Given the description of an element on the screen output the (x, y) to click on. 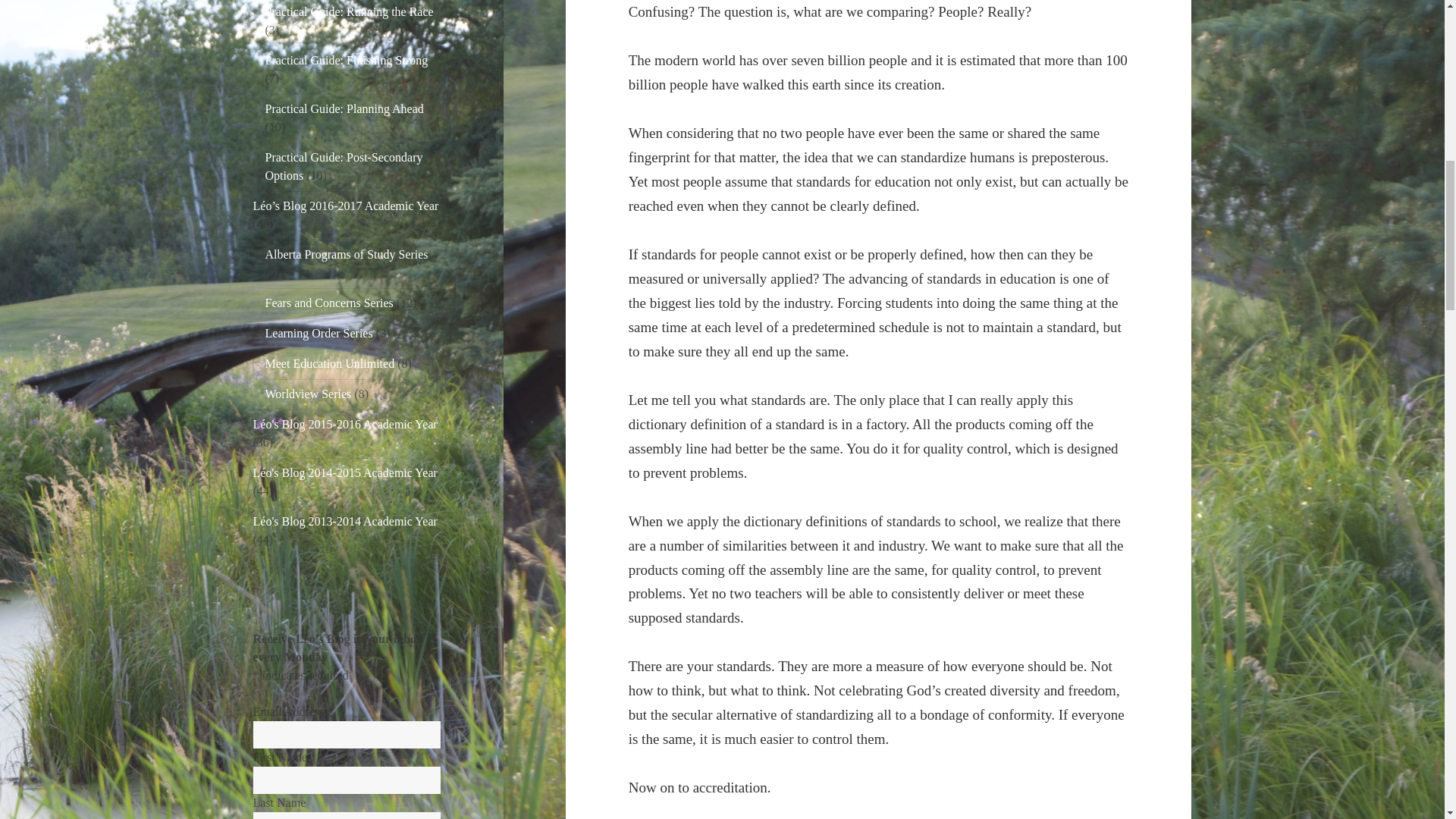
Practical Guide: Finishing Strong (346, 60)
Practical Guide: Post-Secondary Options (343, 165)
Alberta Programs of Study Series (346, 254)
Learning Order Series (318, 332)
Practical Guide: Running the Race (348, 11)
Fears and Concerns Series (328, 302)
Meet Education Unlimited (329, 363)
Worldview Series (308, 393)
Practical Guide: Planning Ahead (343, 108)
